Given the description of an element on the screen output the (x, y) to click on. 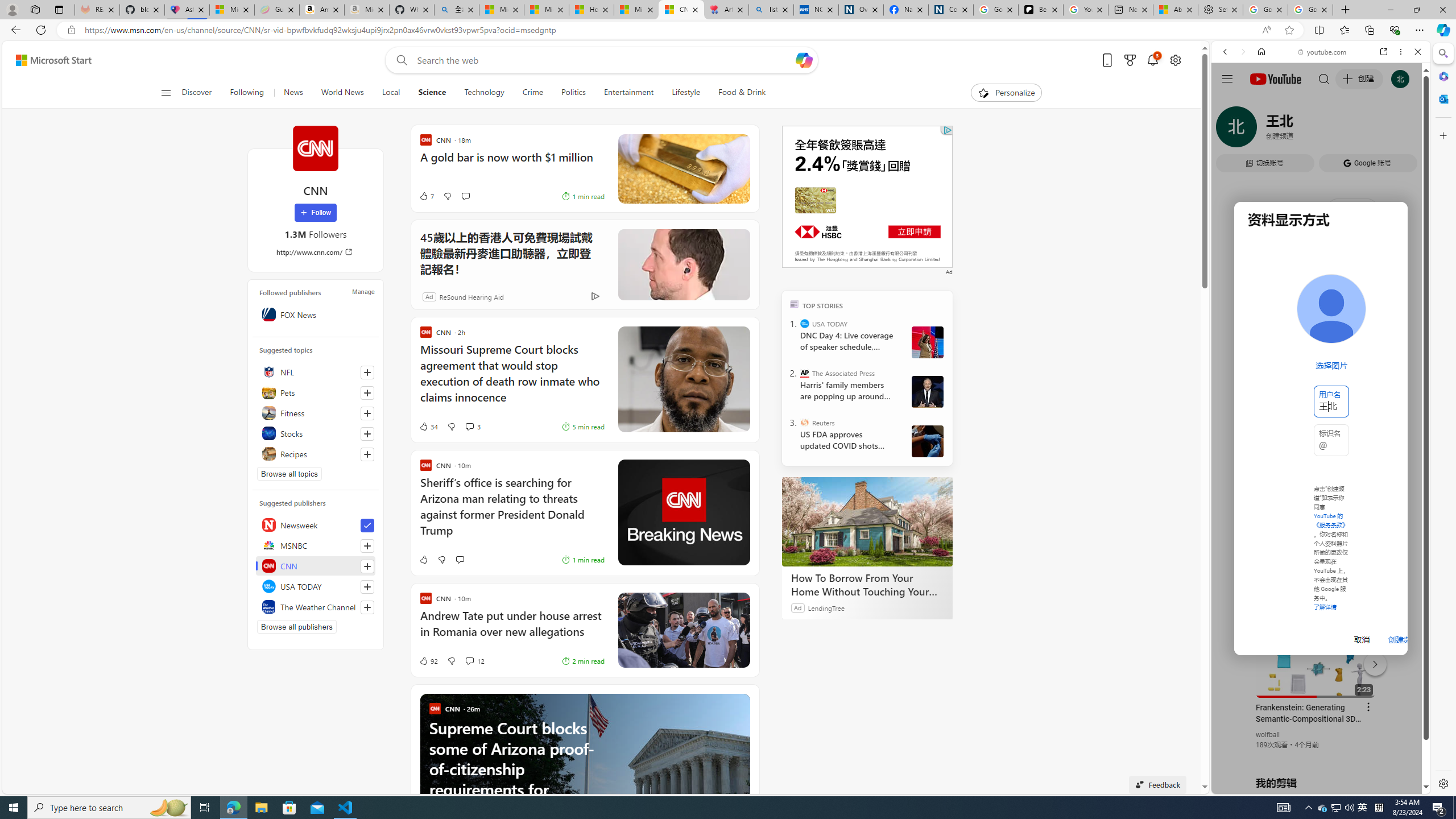
Asthma Inhalers: Names and Types (187, 9)
Reuters (804, 422)
Be Smart | creating Science videos | Patreon (1040, 9)
SEARCH TOOLS (1350, 130)
Show More Music (1390, 310)
MSNBC (315, 545)
